Given the description of an element on the screen output the (x, y) to click on. 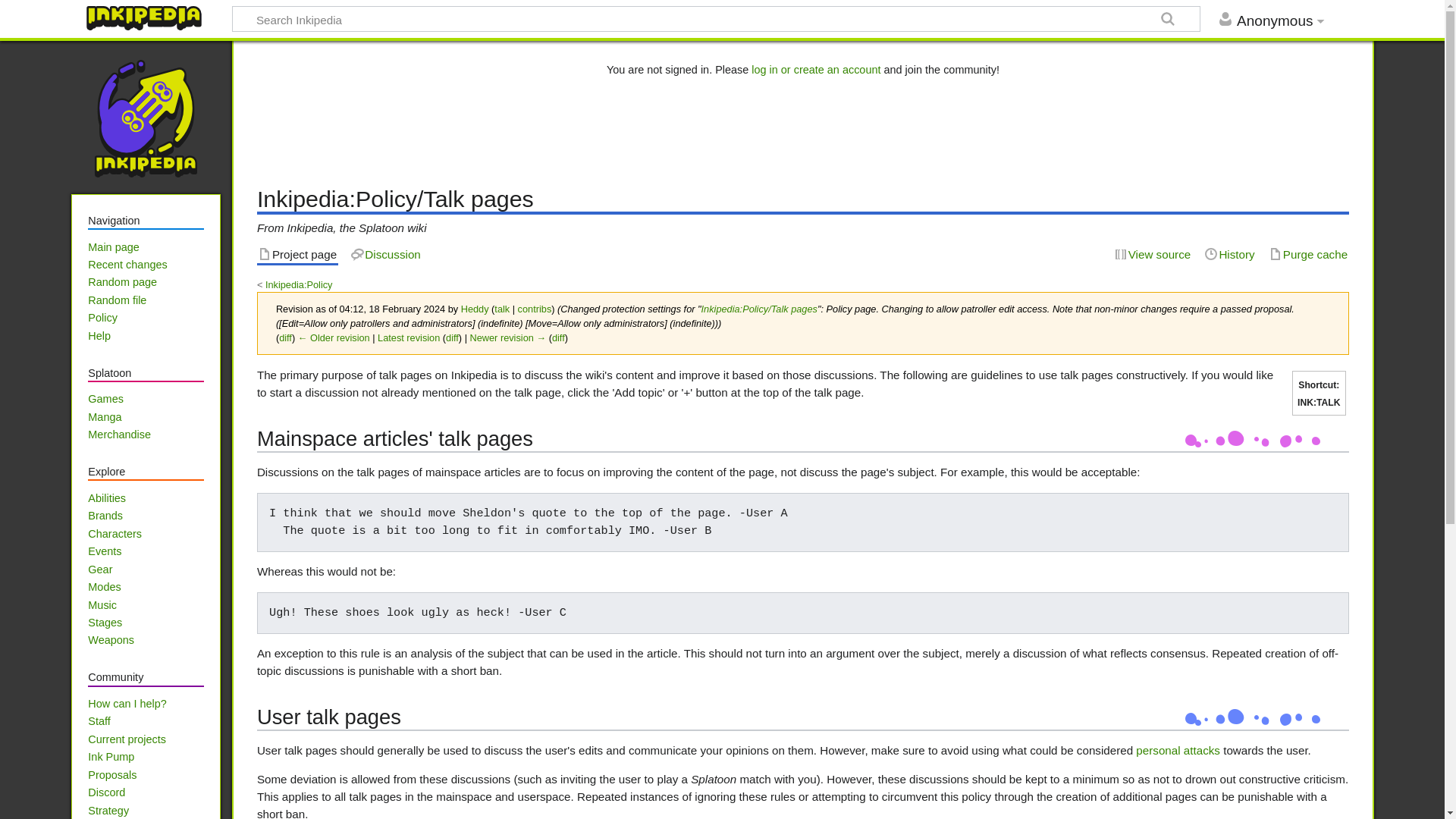
talk (502, 308)
Inkipedia:Policy (298, 284)
Help (98, 336)
Random file (117, 300)
Policy (102, 317)
Main page (112, 246)
Recent changes (127, 264)
Special:UserLogin (815, 69)
Latest revision (408, 337)
diff (285, 337)
